Given the description of an element on the screen output the (x, y) to click on. 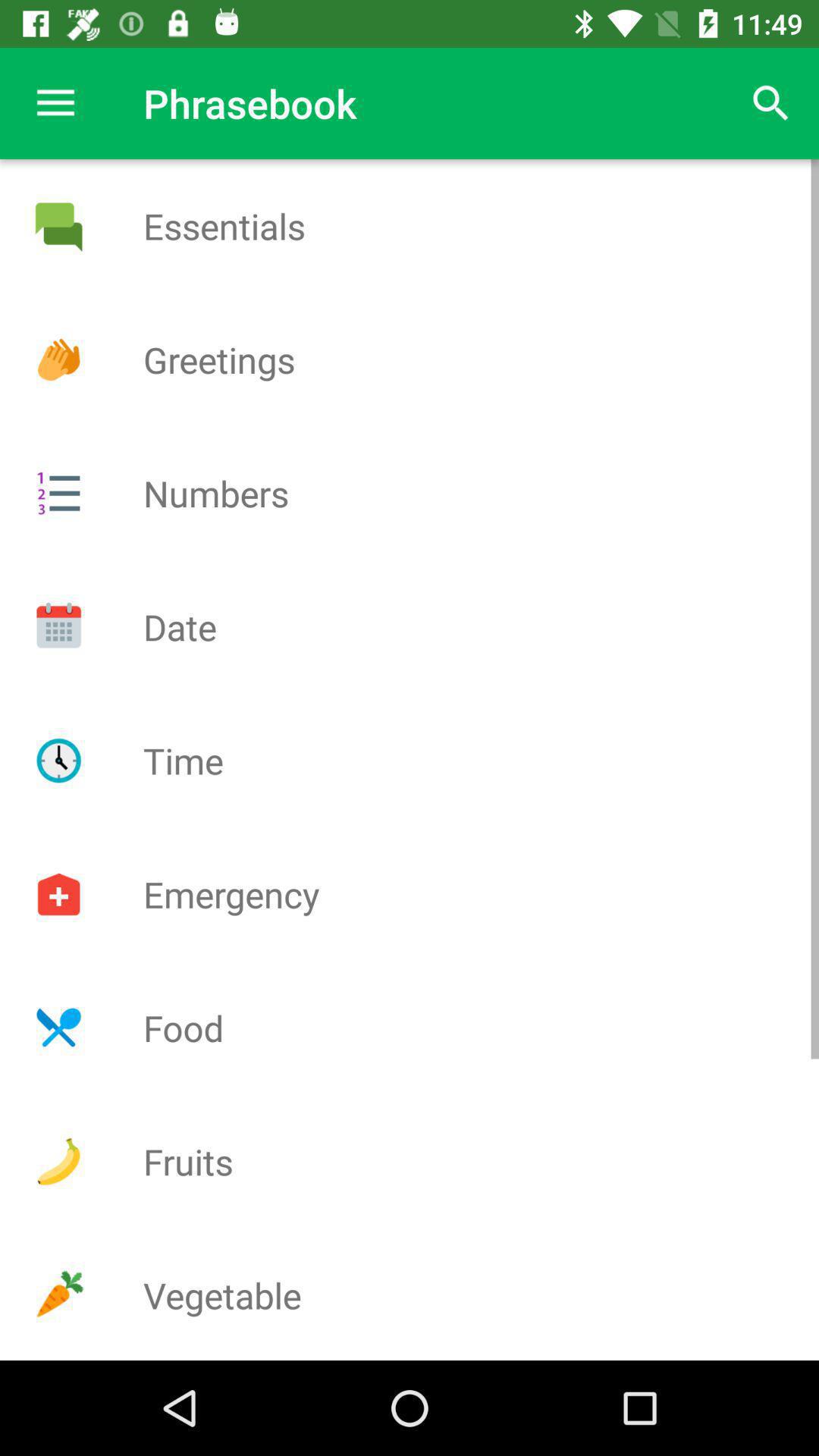
show food phrases (58, 1027)
